Given the description of an element on the screen output the (x, y) to click on. 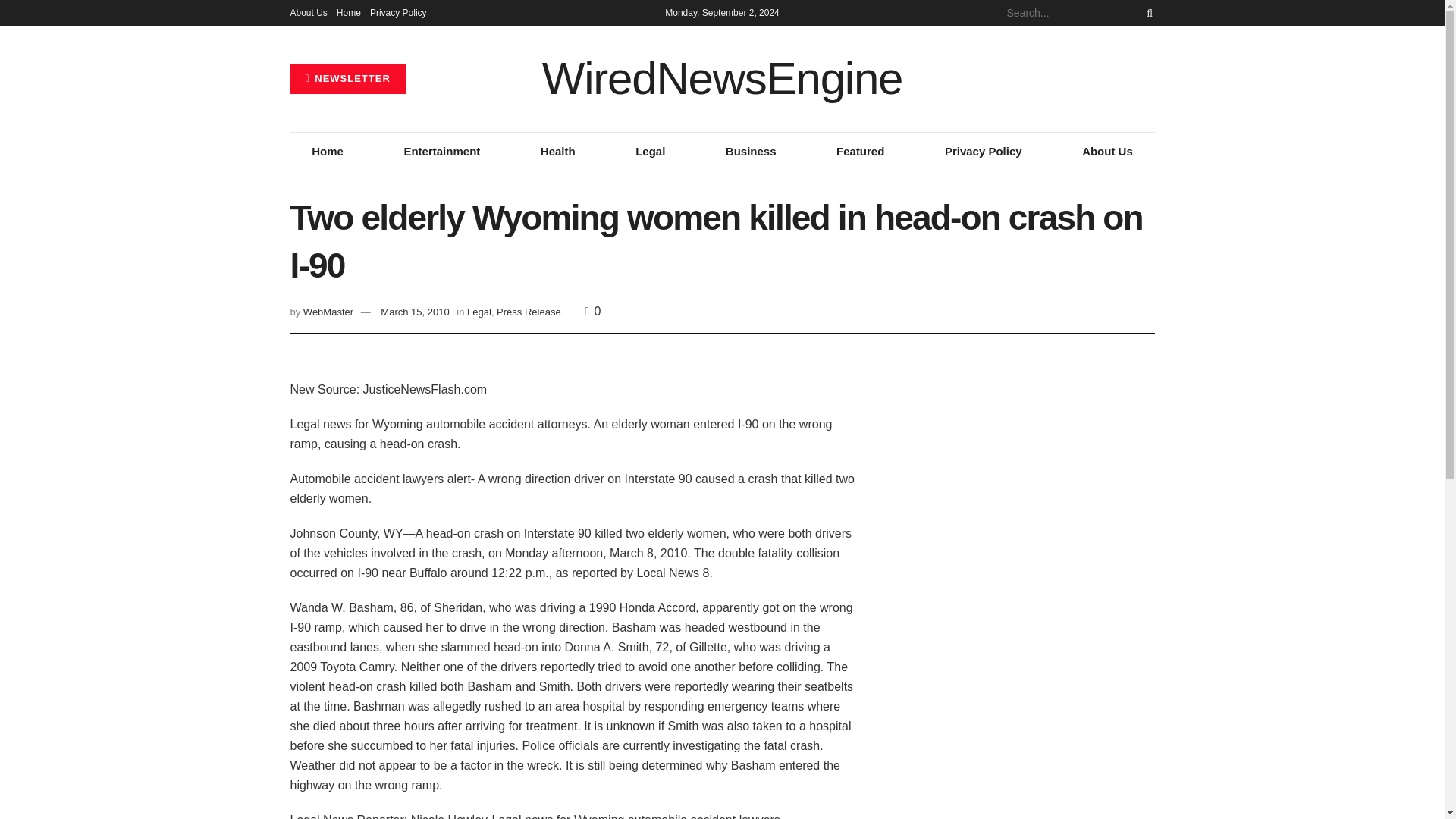
Privacy Policy (983, 151)
NEWSLETTER (346, 78)
Legal (649, 151)
March 15, 2010 (414, 311)
About Us (1106, 151)
0 (592, 310)
Featured (859, 151)
Legal (479, 311)
About Us (307, 12)
Entertainment (441, 151)
